Given the description of an element on the screen output the (x, y) to click on. 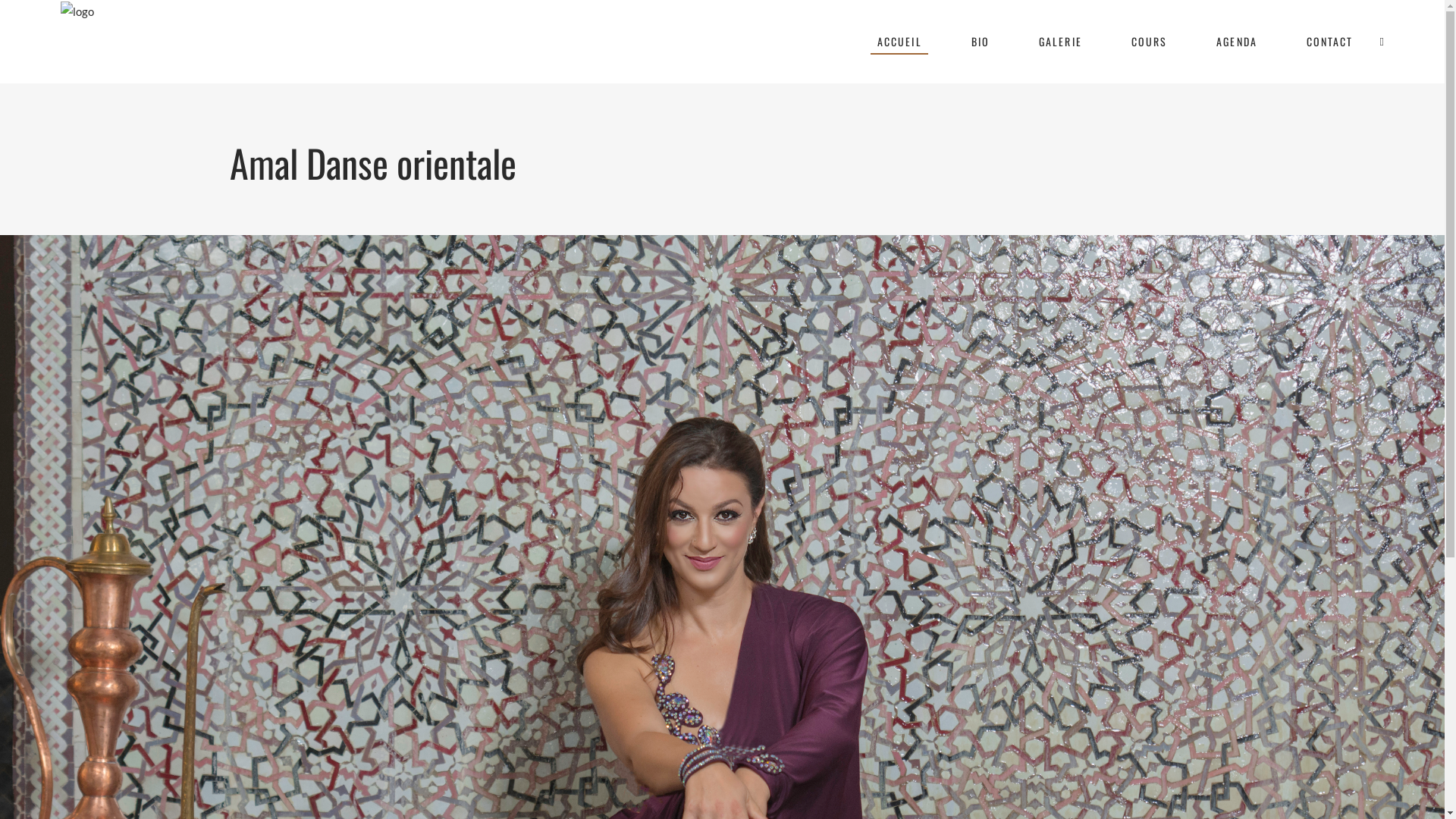
GALERIE Element type: text (1059, 41)
AGENDA Element type: text (1236, 41)
COURS Element type: text (1149, 41)
CONTACT Element type: text (1329, 41)
BIO Element type: text (979, 41)
ACCUEIL Element type: text (899, 41)
